Given the description of an element on the screen output the (x, y) to click on. 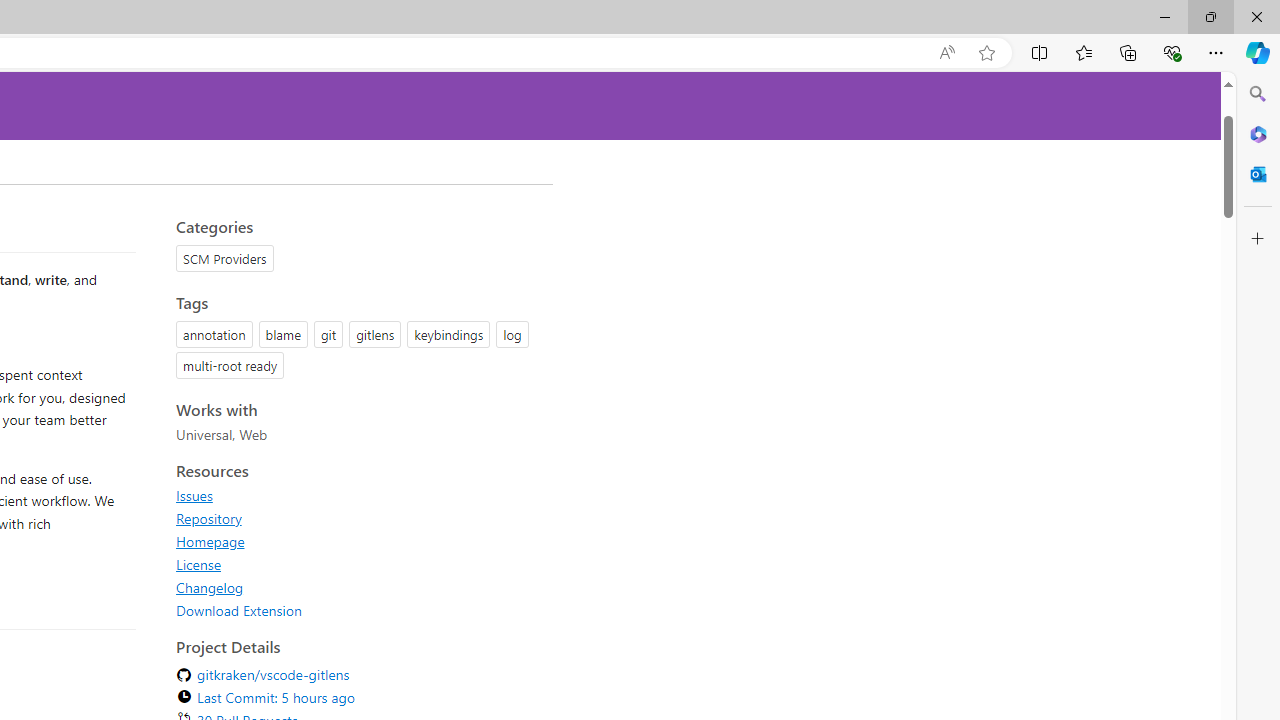
Issues (358, 495)
Changelog (210, 587)
